Given the description of an element on the screen output the (x, y) to click on. 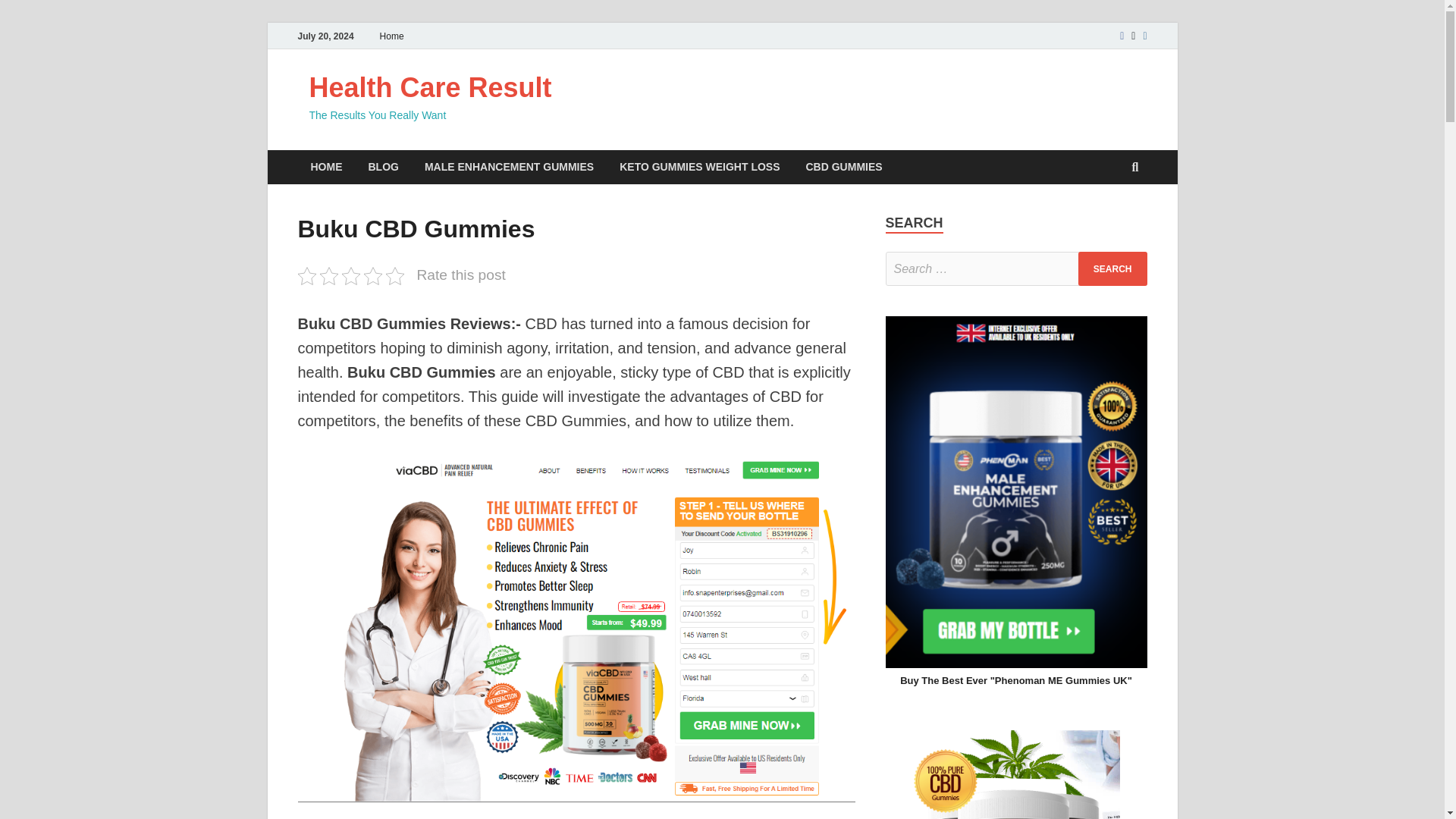
Search (1112, 268)
Health Care Result (429, 87)
MALE ENHANCEMENT GUMMIES (509, 166)
KETO GUMMIES WEIGHT LOSS (699, 166)
HOME (326, 166)
CBD GUMMIES (844, 166)
Home (391, 35)
Search (1112, 268)
BLOG (382, 166)
